Given the description of an element on the screen output the (x, y) to click on. 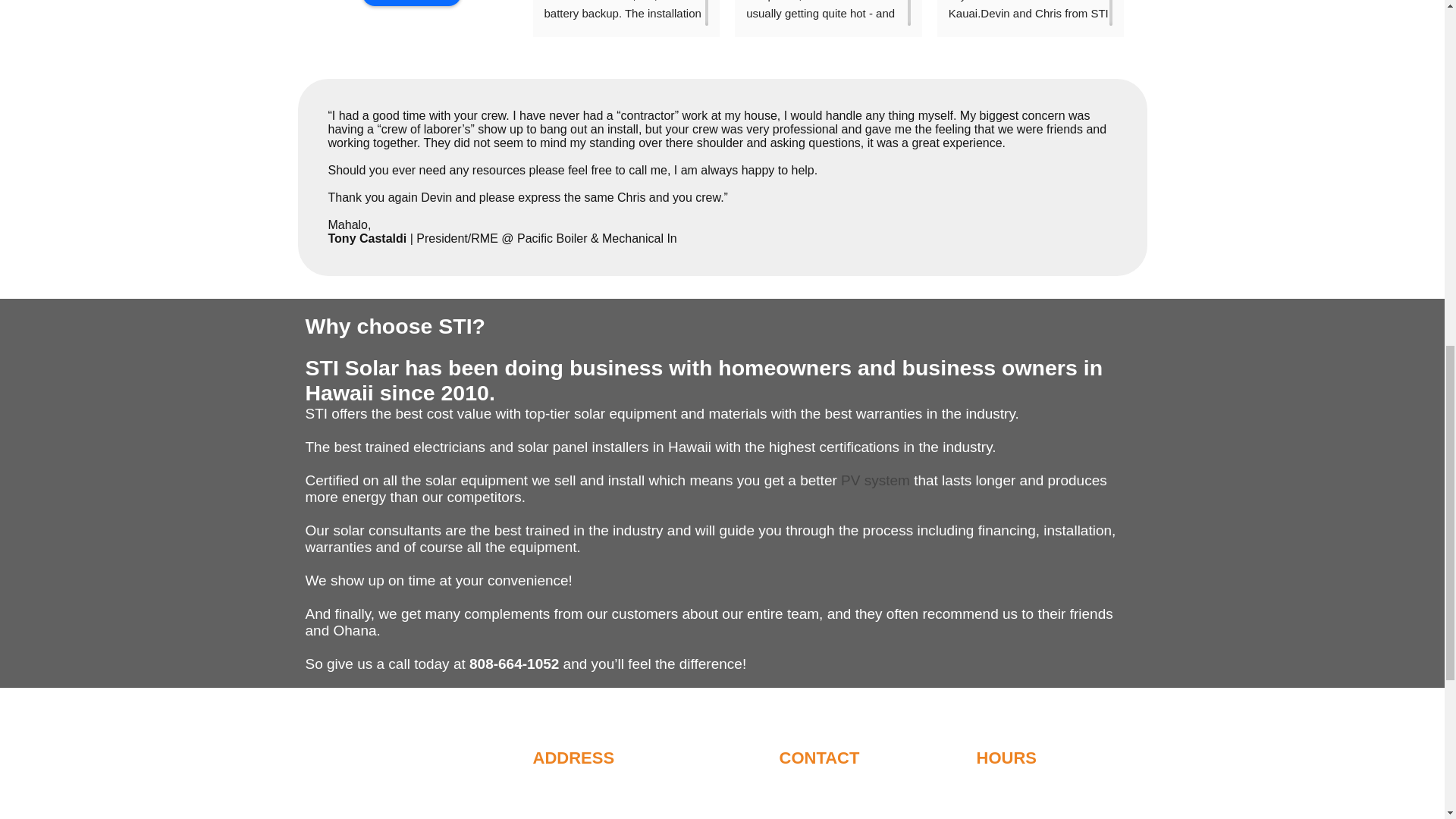
review us on (411, 2)
Kauai: 3-2600 Kaumuali'i Hwy Ste 1300, Lihue HI 96766 (633, 814)
Oahu: 1833 Kalakaua Avenue, Suite 406 Honolulu, HI 96815 (635, 792)
solar pv hawaii (875, 480)
P: 808-664-1052 (821, 785)
PV system (875, 480)
